Given the description of an element on the screen output the (x, y) to click on. 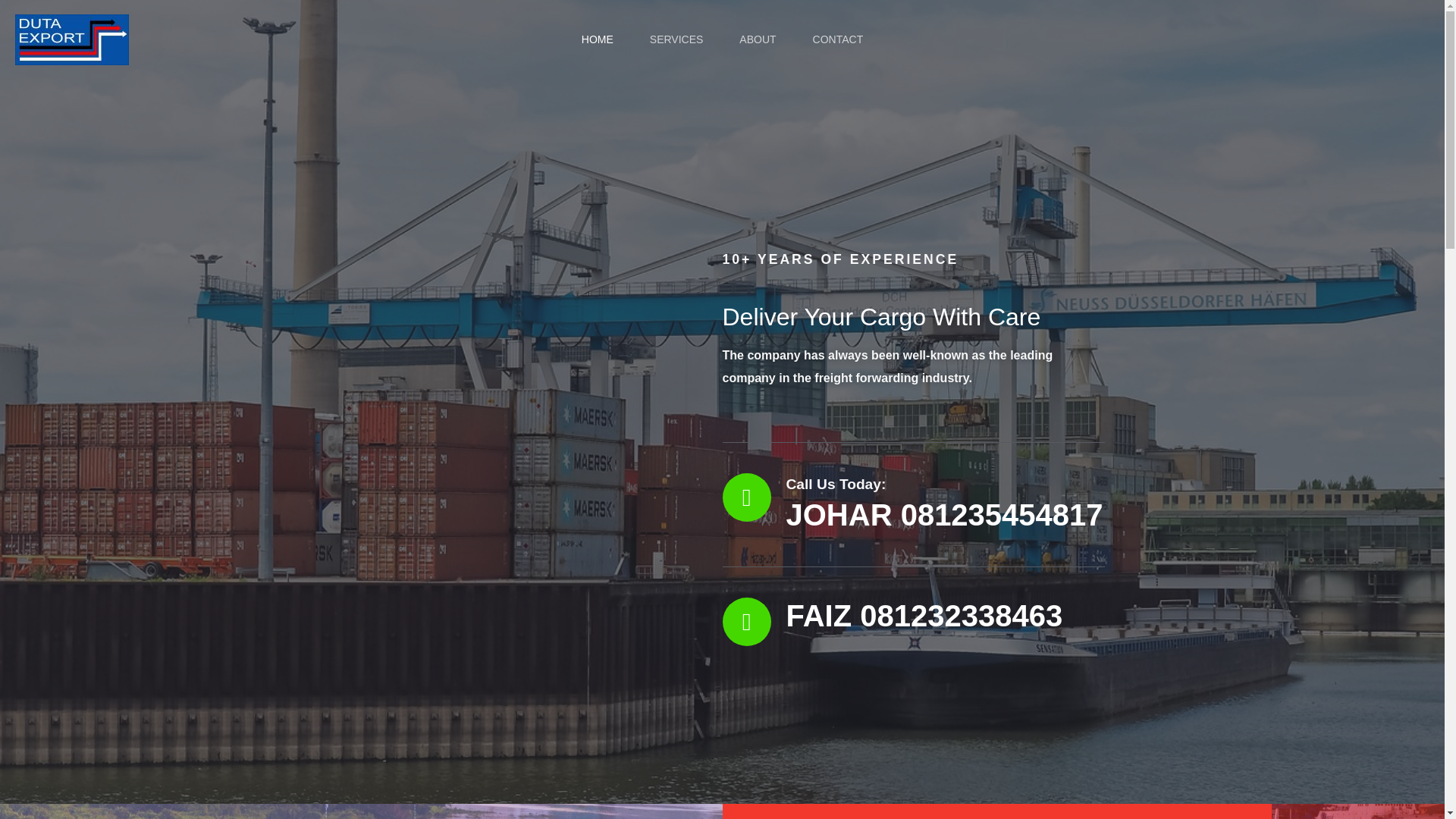
SERVICES (676, 39)
ABOUT (756, 39)
CONTACT (838, 39)
Call Us Today: (835, 483)
